Given the description of an element on the screen output the (x, y) to click on. 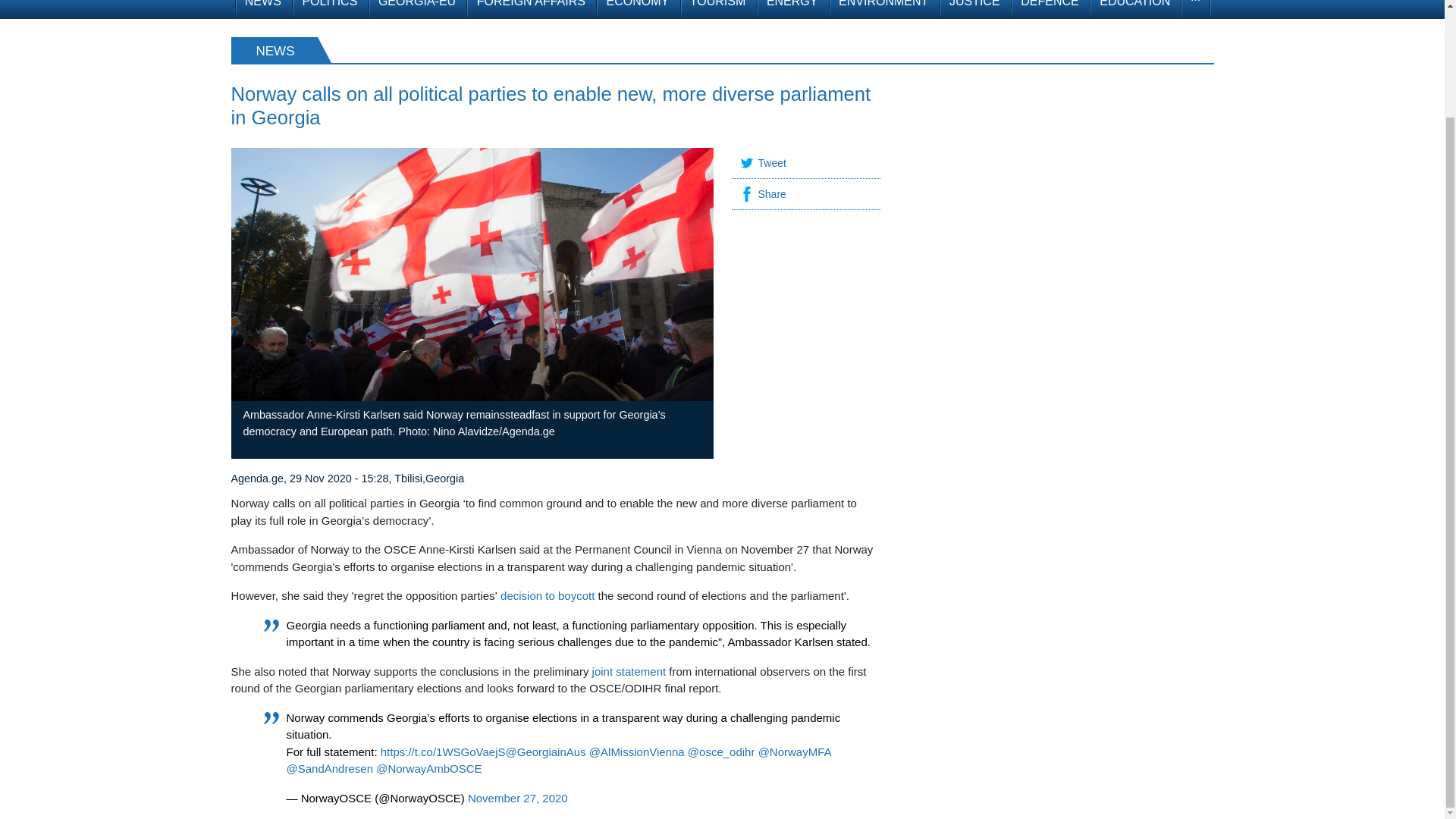
NEWS (262, 9)
